Given the description of an element on the screen output the (x, y) to click on. 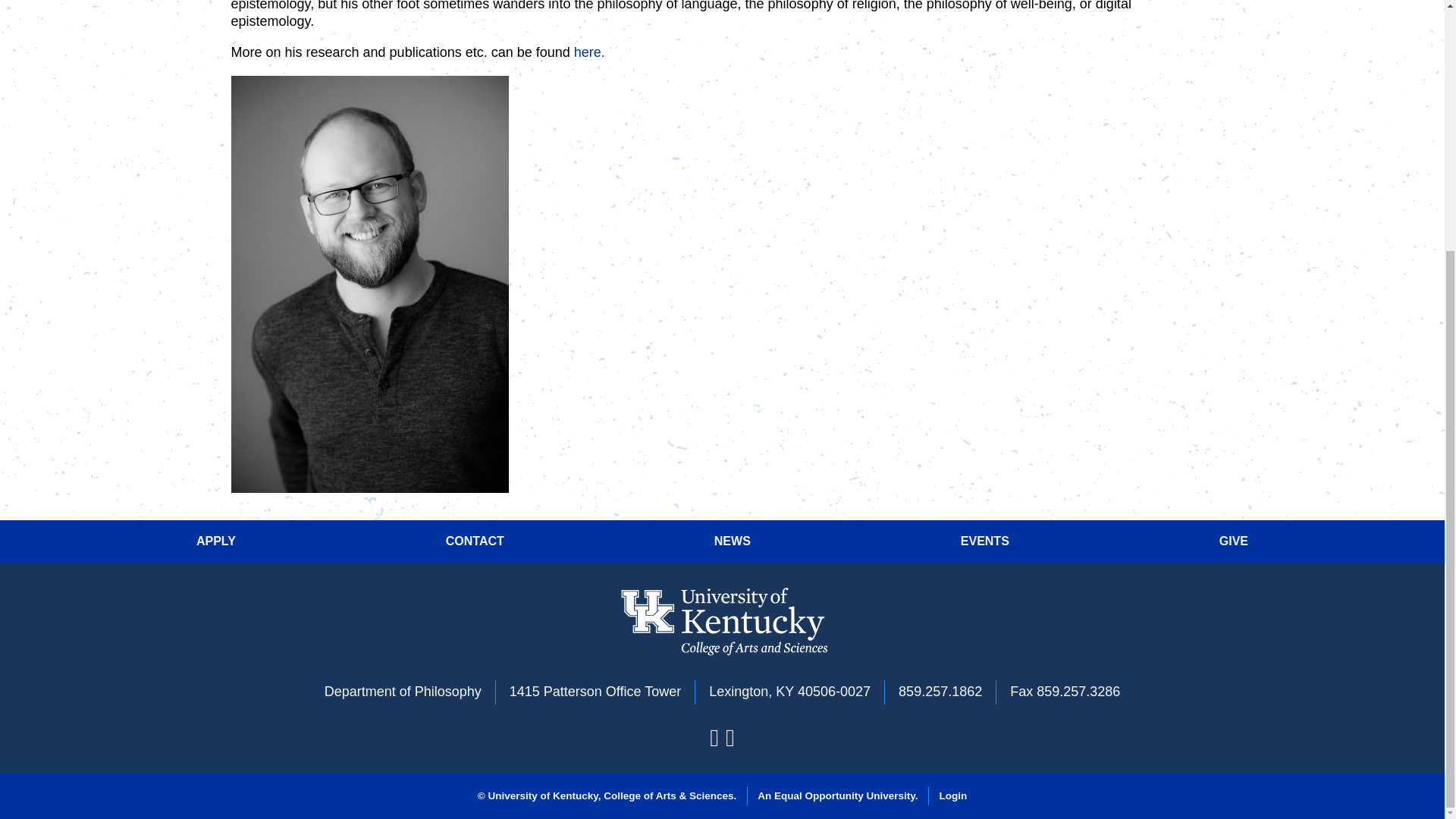
CONTACT (474, 541)
NEWS (732, 541)
APPLY (215, 541)
EVENTS (984, 541)
GIVE (1233, 541)
here. (589, 52)
